Given the description of an element on the screen output the (x, y) to click on. 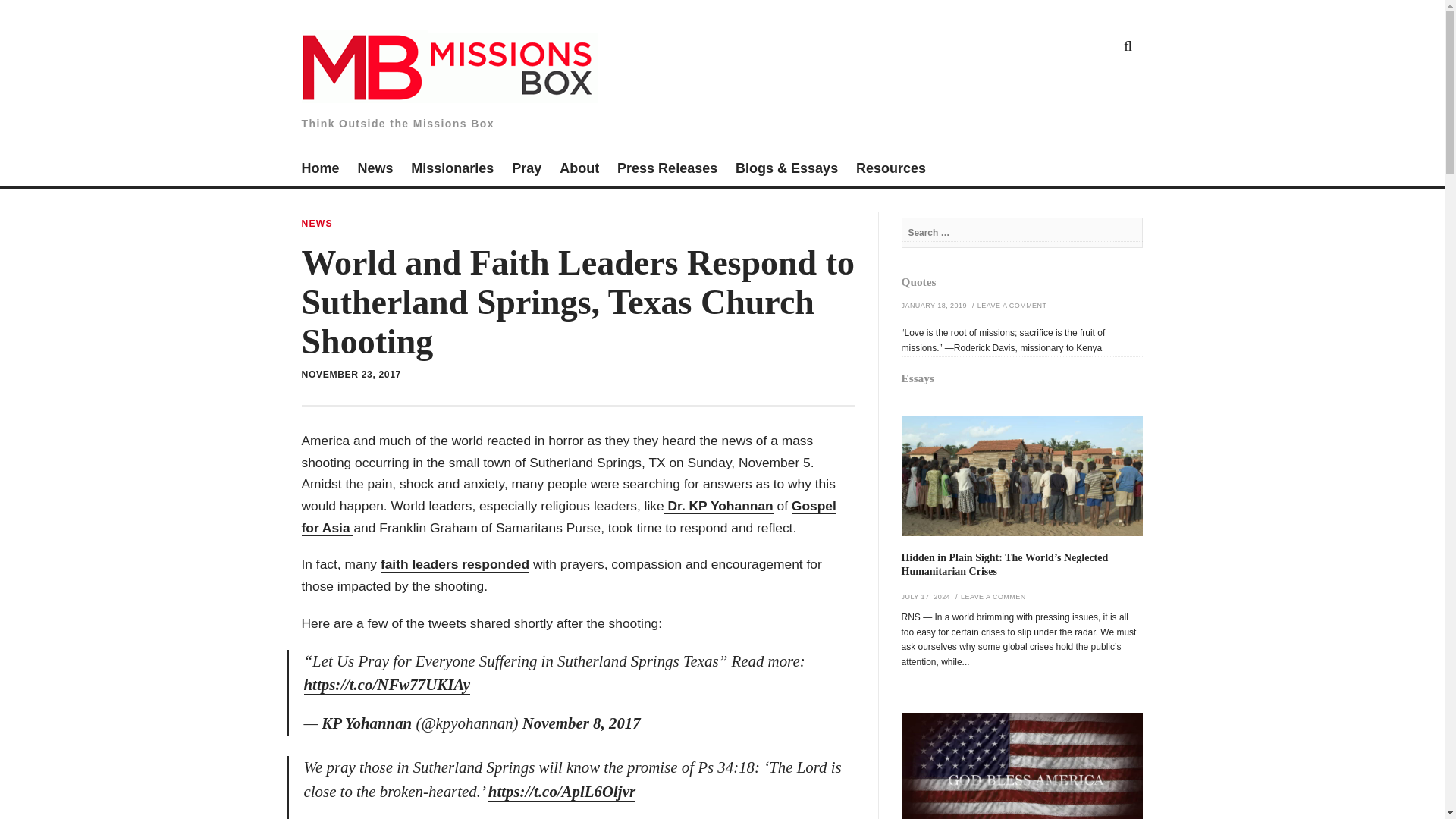
Resources (891, 170)
NOVEMBER 23, 2017 (351, 374)
November 8, 2017 (581, 723)
About (578, 170)
Home (320, 170)
faith leaders responded (454, 564)
NEWS (317, 223)
Pray (526, 170)
Gospel for Asia (568, 516)
Missions Box Press Releases (667, 170)
Missions Box Home Page (320, 170)
Missionaries (451, 170)
News (374, 170)
Press Releases (667, 170)
About (578, 170)
